Given the description of an element on the screen output the (x, y) to click on. 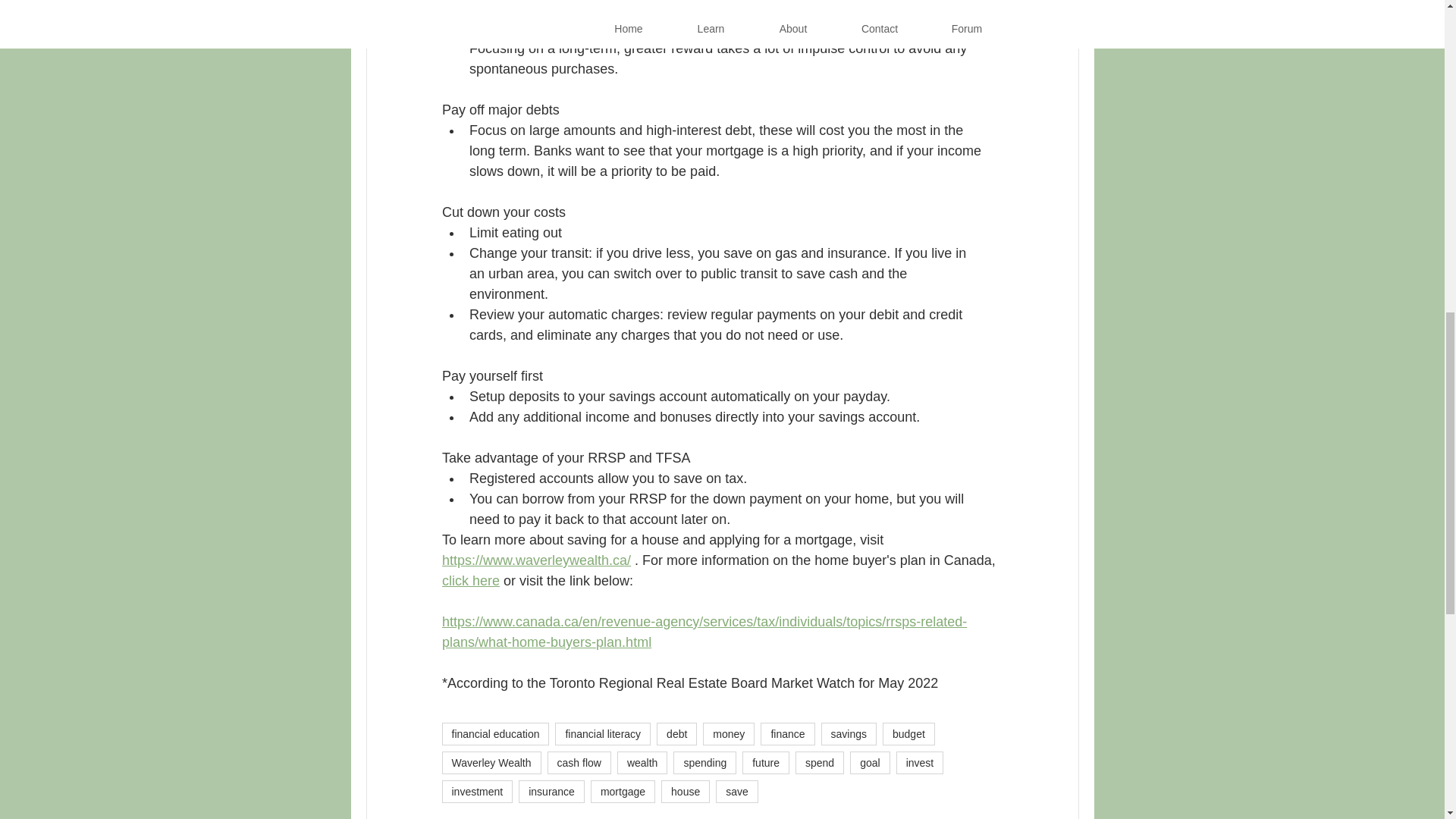
debt (676, 733)
spending (704, 762)
save (737, 791)
finance (786, 733)
financial literacy (602, 733)
future (765, 762)
cash flow (579, 762)
house (685, 791)
Waverley Wealth (490, 762)
insurance (551, 791)
